Given the description of an element on the screen output the (x, y) to click on. 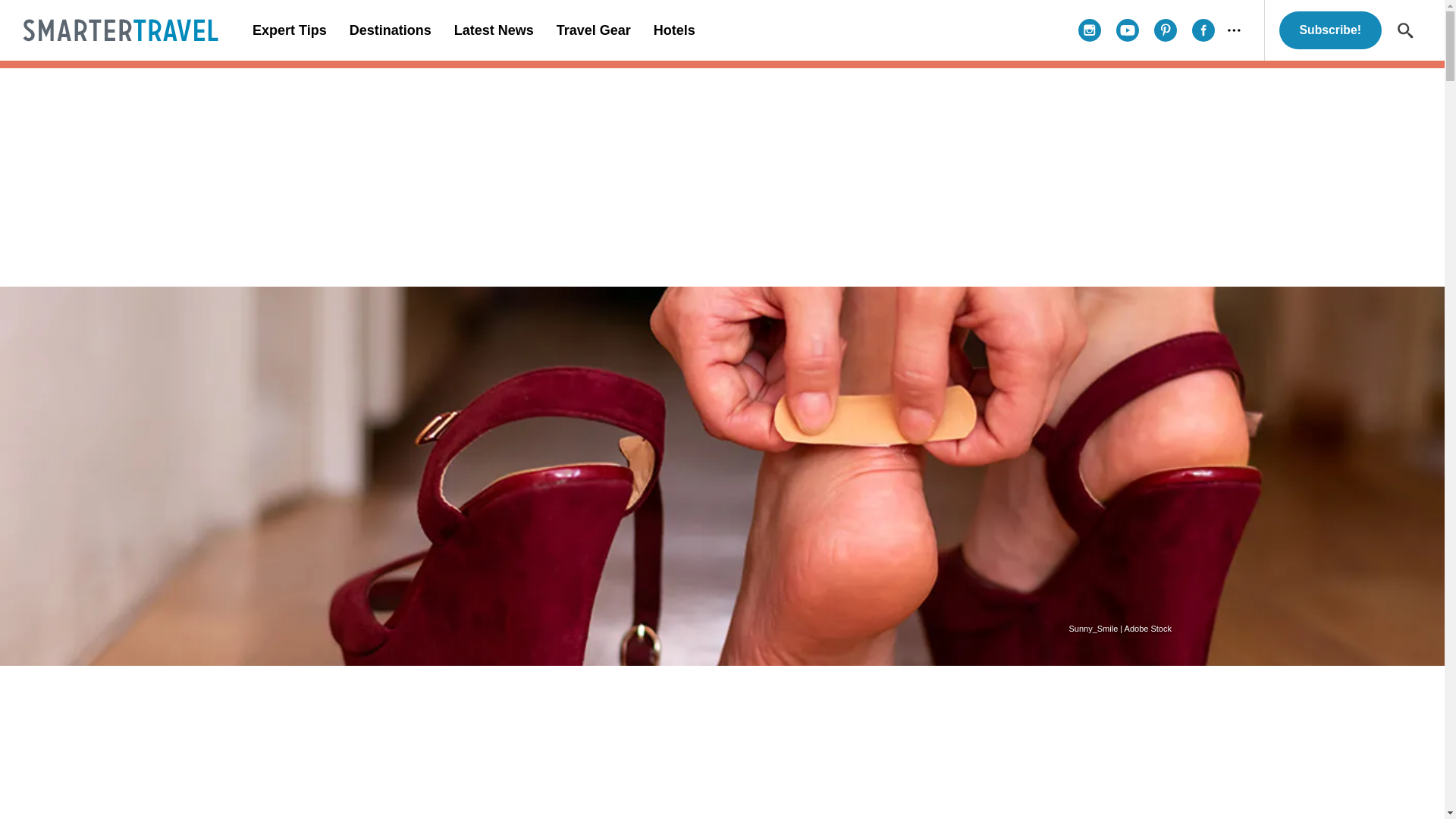
Subscribe! (1330, 30)
Destinations (389, 30)
Expert Tips (289, 30)
Latest News (493, 30)
Travel Gear (593, 30)
Hotels (674, 30)
